Given the description of an element on the screen output the (x, y) to click on. 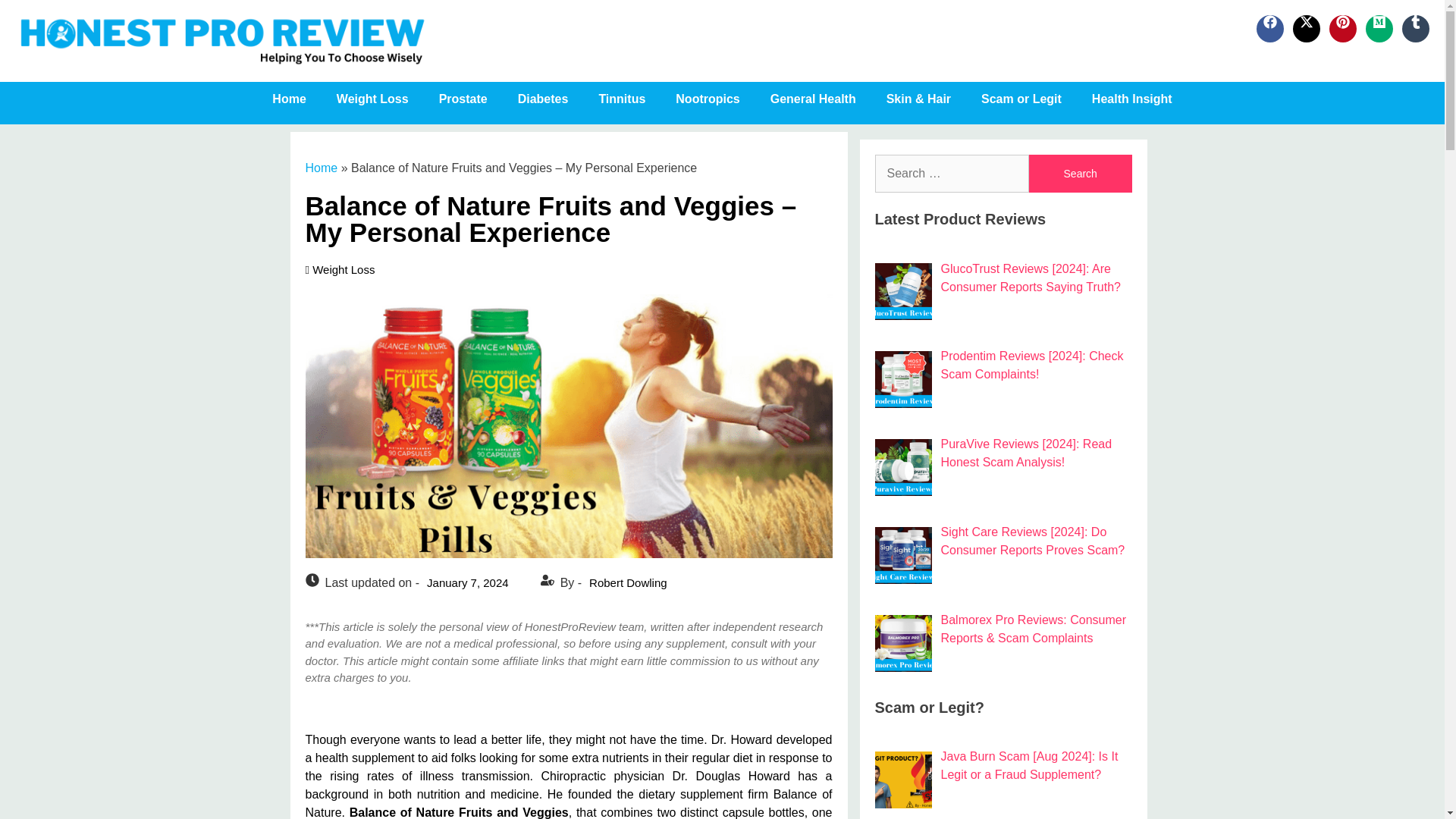
Search (1080, 173)
General Health (812, 99)
Health Insight (1132, 99)
Nootropics (707, 99)
Tinnitus (622, 99)
Prostate (462, 99)
Search (1080, 173)
Weight Loss (372, 99)
Home (288, 99)
Diabetes (542, 99)
